Given the description of an element on the screen output the (x, y) to click on. 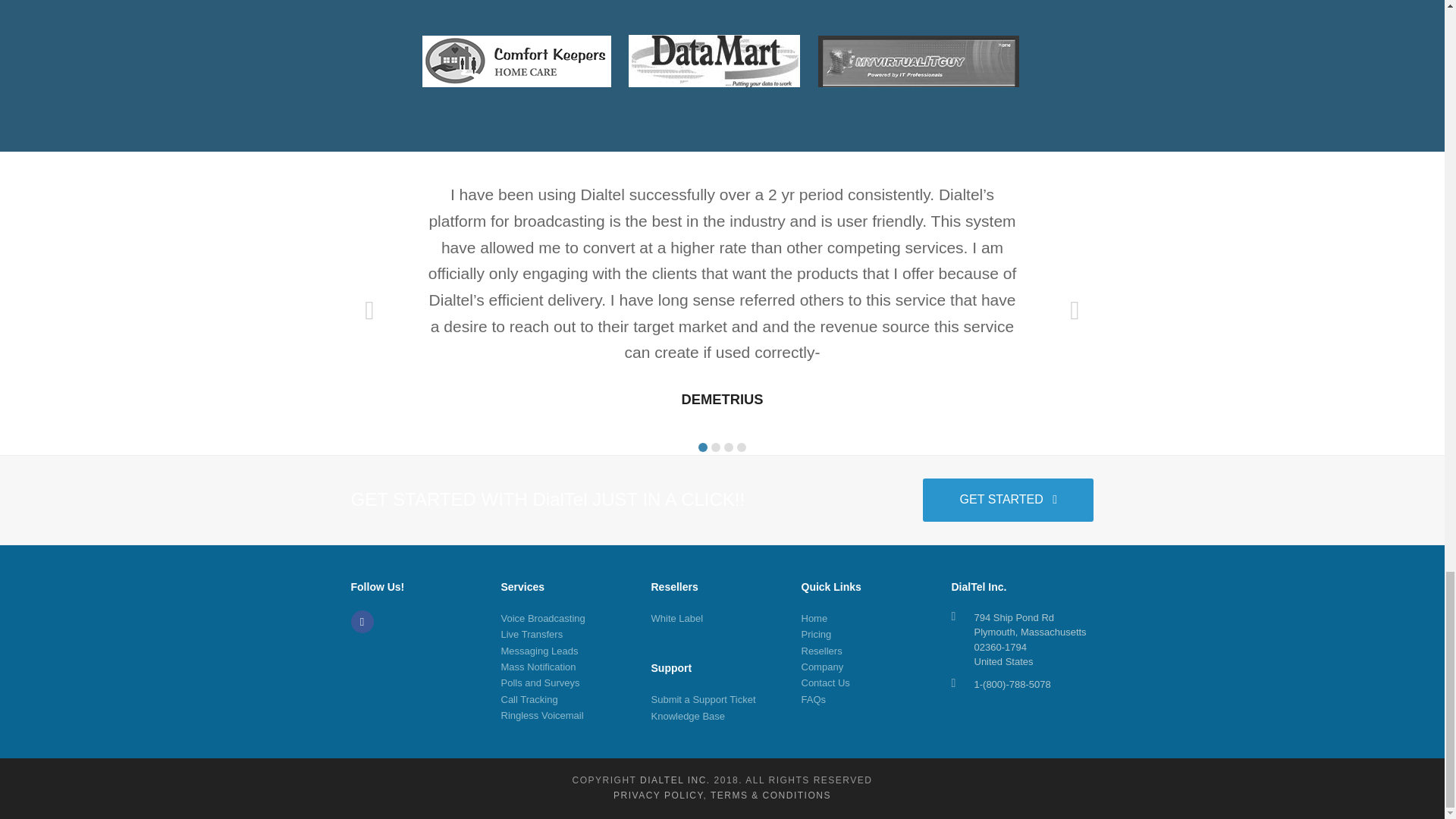
Facebook (361, 621)
Live Transfers (531, 633)
Voice Broadcasting (542, 618)
GET STARTED (1008, 499)
GET STARTED (1008, 499)
Messaging Leads (539, 650)
